Given the description of an element on the screen output the (x, y) to click on. 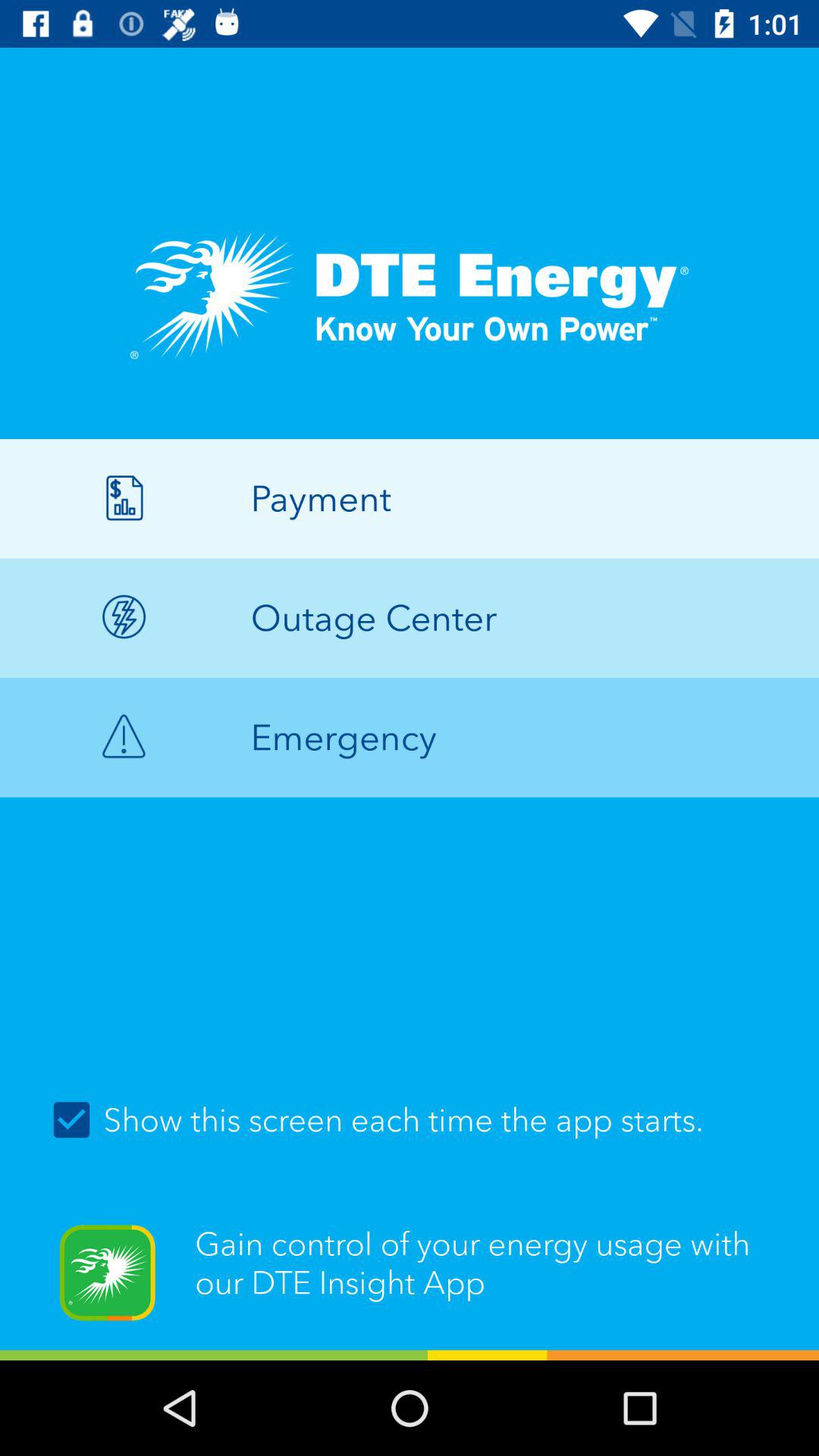
scroll to outage center item (409, 617)
